Given the description of an element on the screen output the (x, y) to click on. 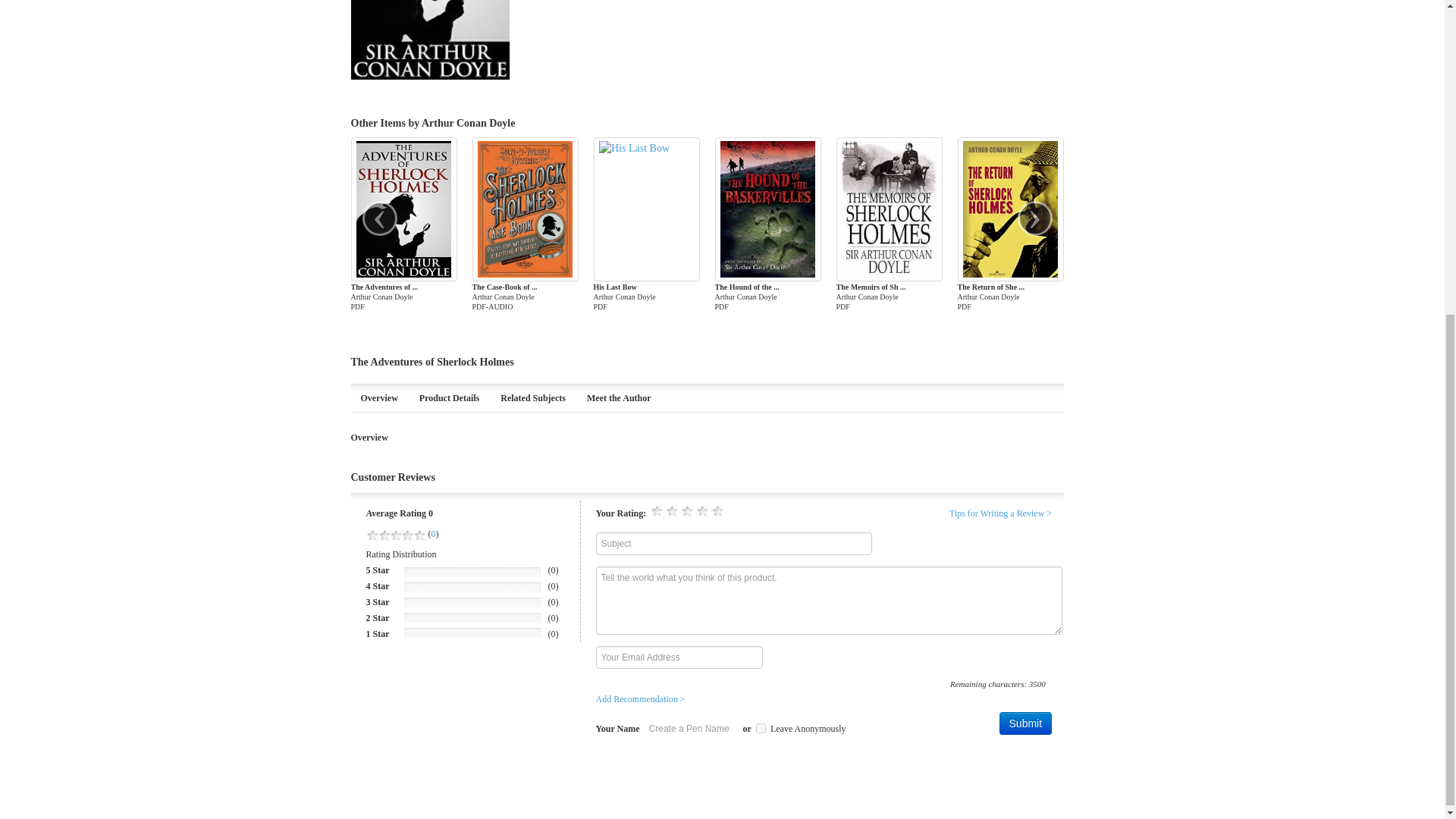
Overview (378, 398)
anonym (760, 728)
Product Details (449, 398)
Related Subjects (532, 398)
Submit (1025, 722)
Meet the Author (618, 398)
